Given the description of an element on the screen output the (x, y) to click on. 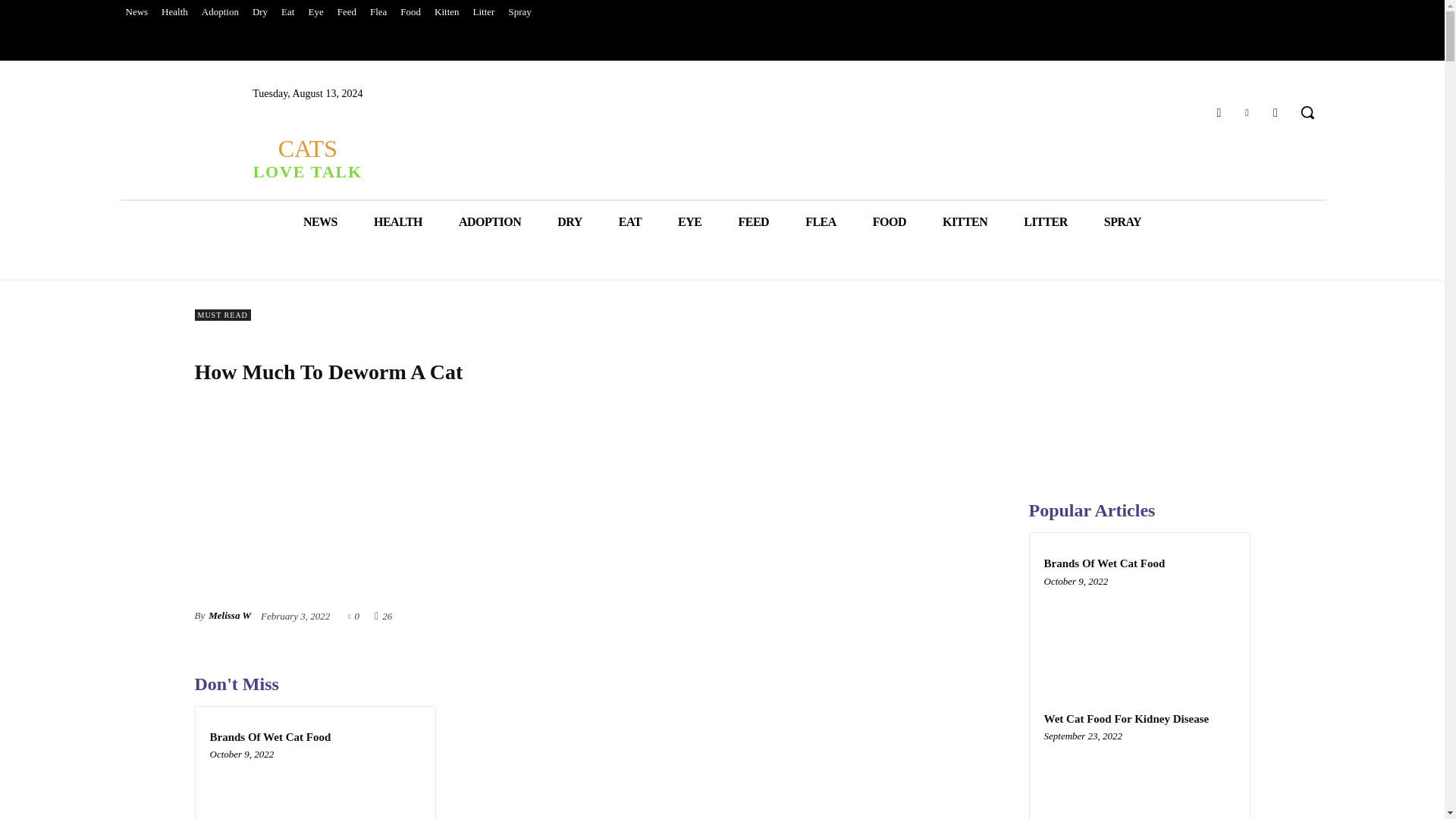
Adoption (220, 12)
Kitten (446, 12)
Brands Of Wet Cat Food (314, 788)
Feed (346, 12)
Flea (377, 12)
Dry (260, 12)
Food (410, 12)
Spray (518, 12)
Facebook (306, 157)
